Given the description of an element on the screen output the (x, y) to click on. 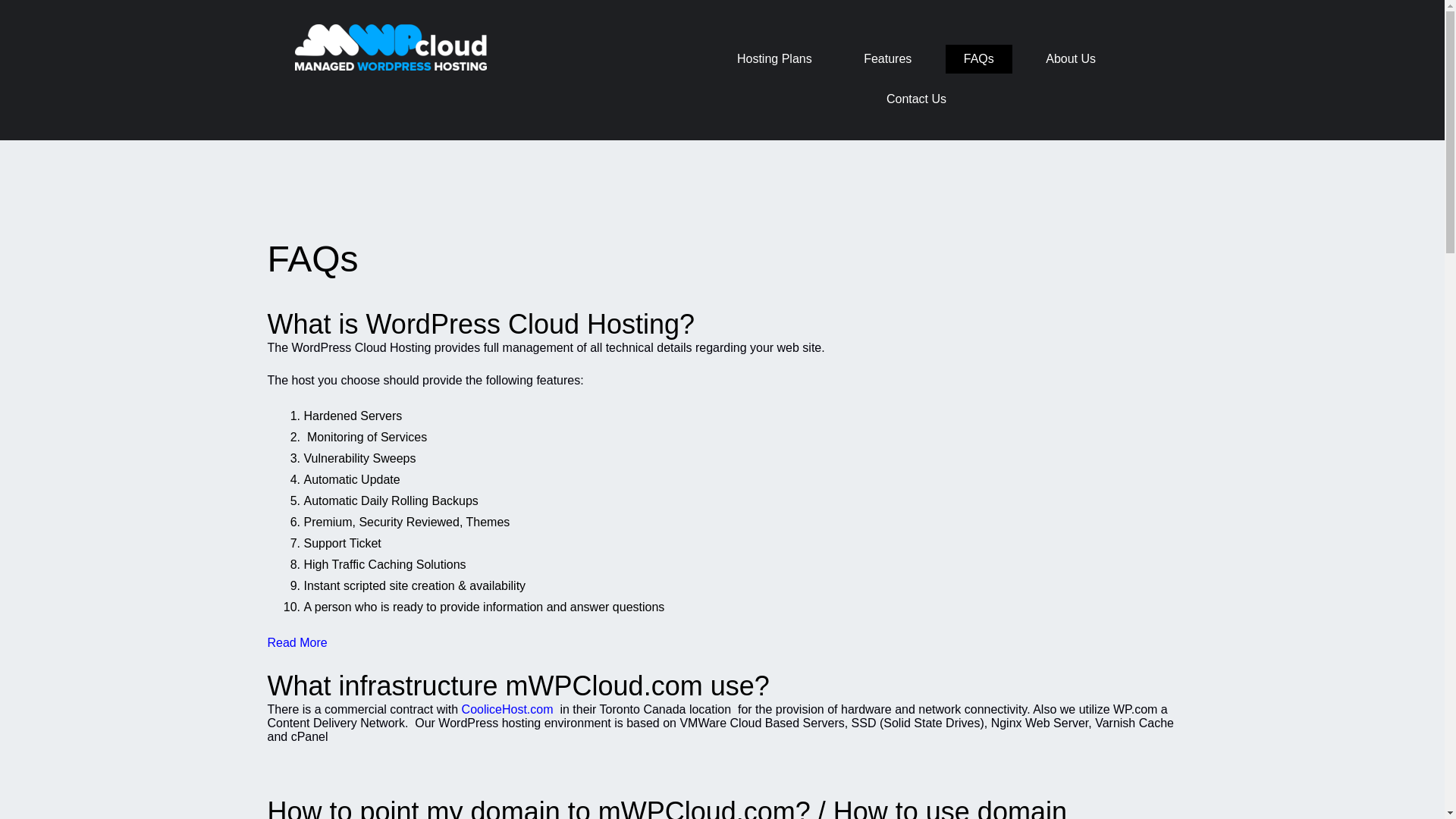
About Us (1070, 58)
Features (887, 58)
CooliceHost.com (507, 708)
FAQs (978, 58)
Read More (296, 642)
Hosting Plans (774, 58)
Contact Us (916, 98)
